Given the description of an element on the screen output the (x, y) to click on. 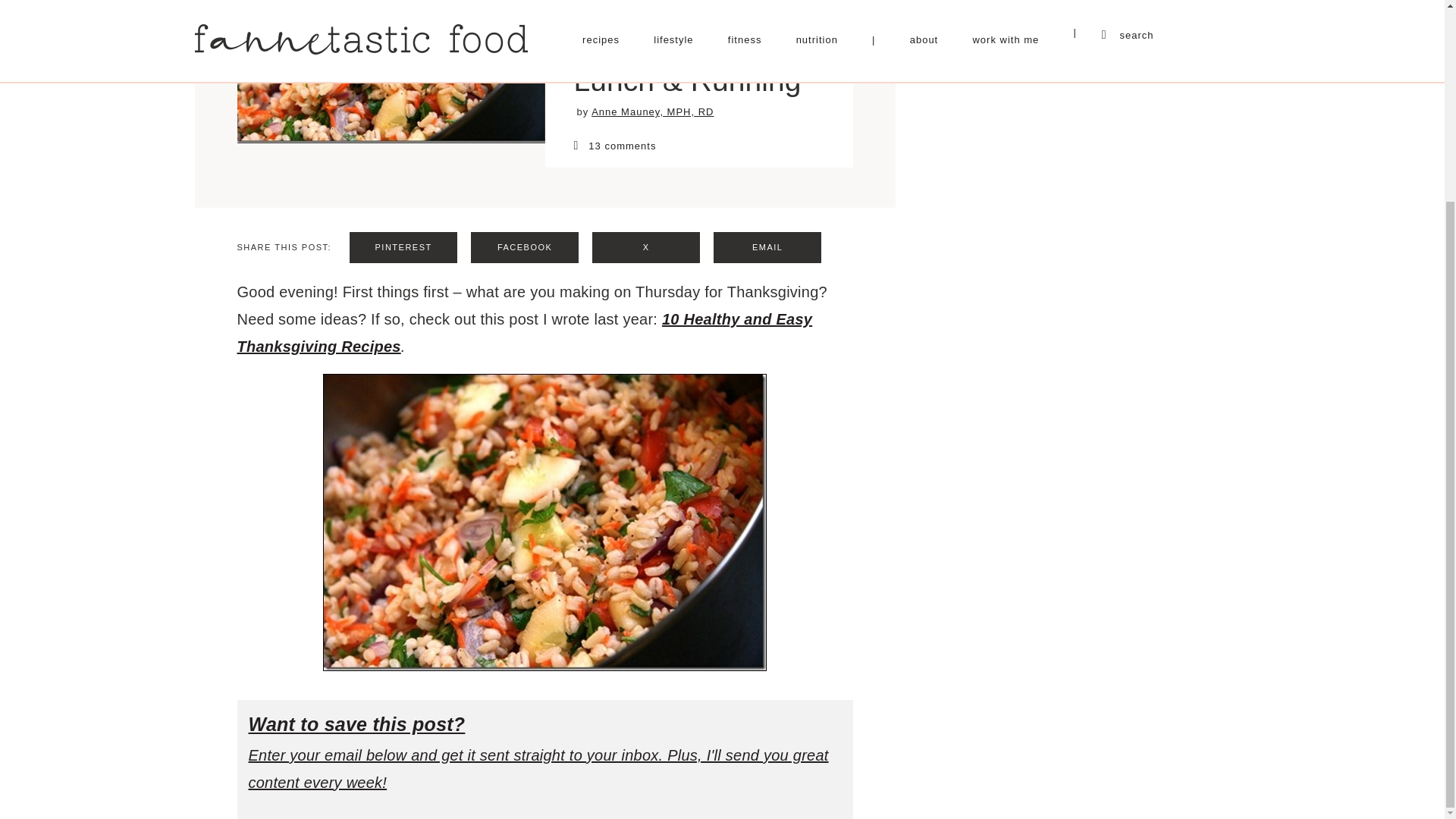
13 comments (698, 145)
10 Healthy and Easy Thanksgiving Recipes (523, 332)
EMAIL (767, 246)
Anne Mauney, MPH, RD (652, 111)
X (646, 246)
FACEBOOK (524, 246)
thanksgiving (545, 521)
